Given the description of an element on the screen output the (x, y) to click on. 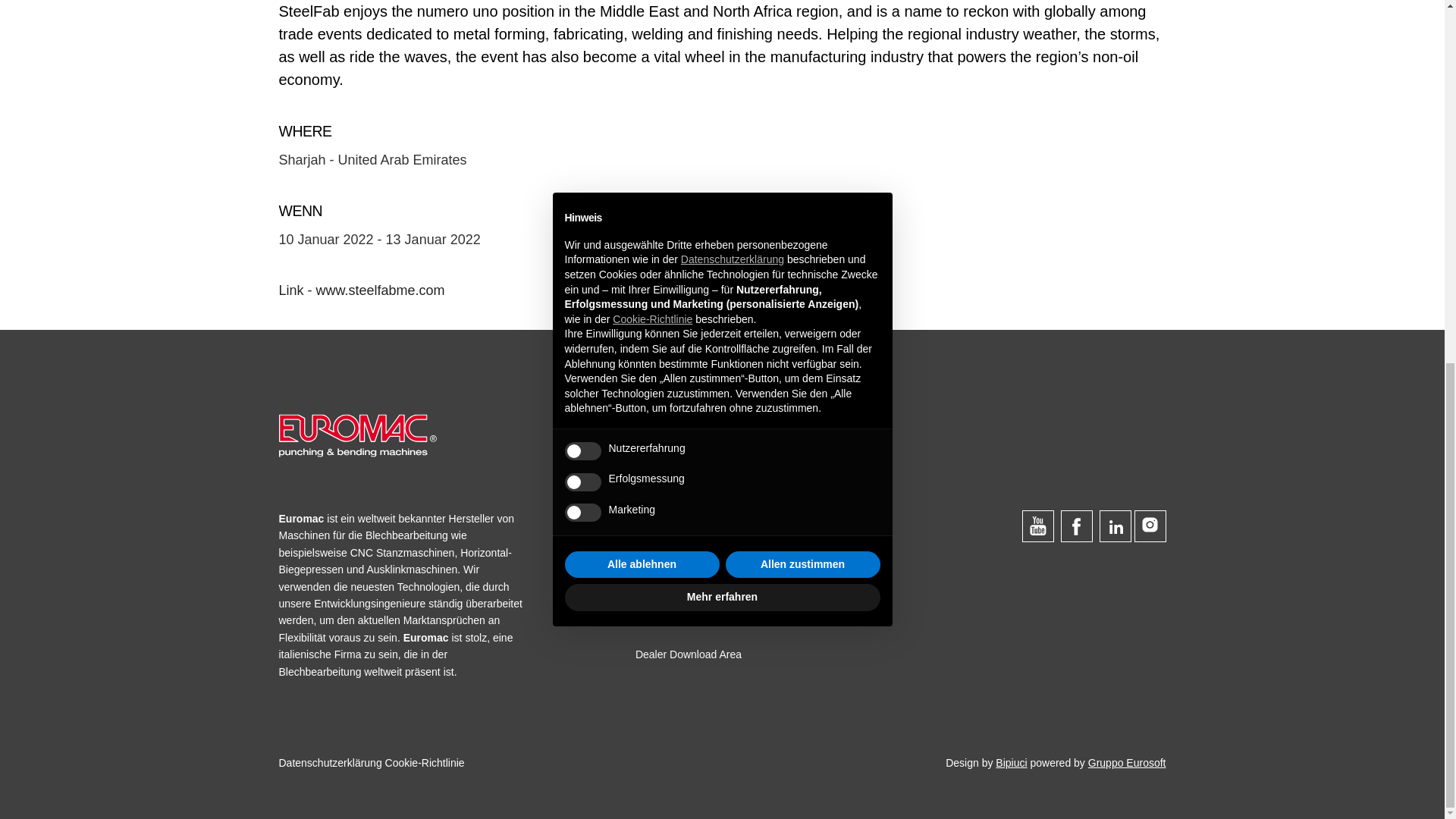
Cookie-Richtlinie  (424, 762)
